Given the description of an element on the screen output the (x, y) to click on. 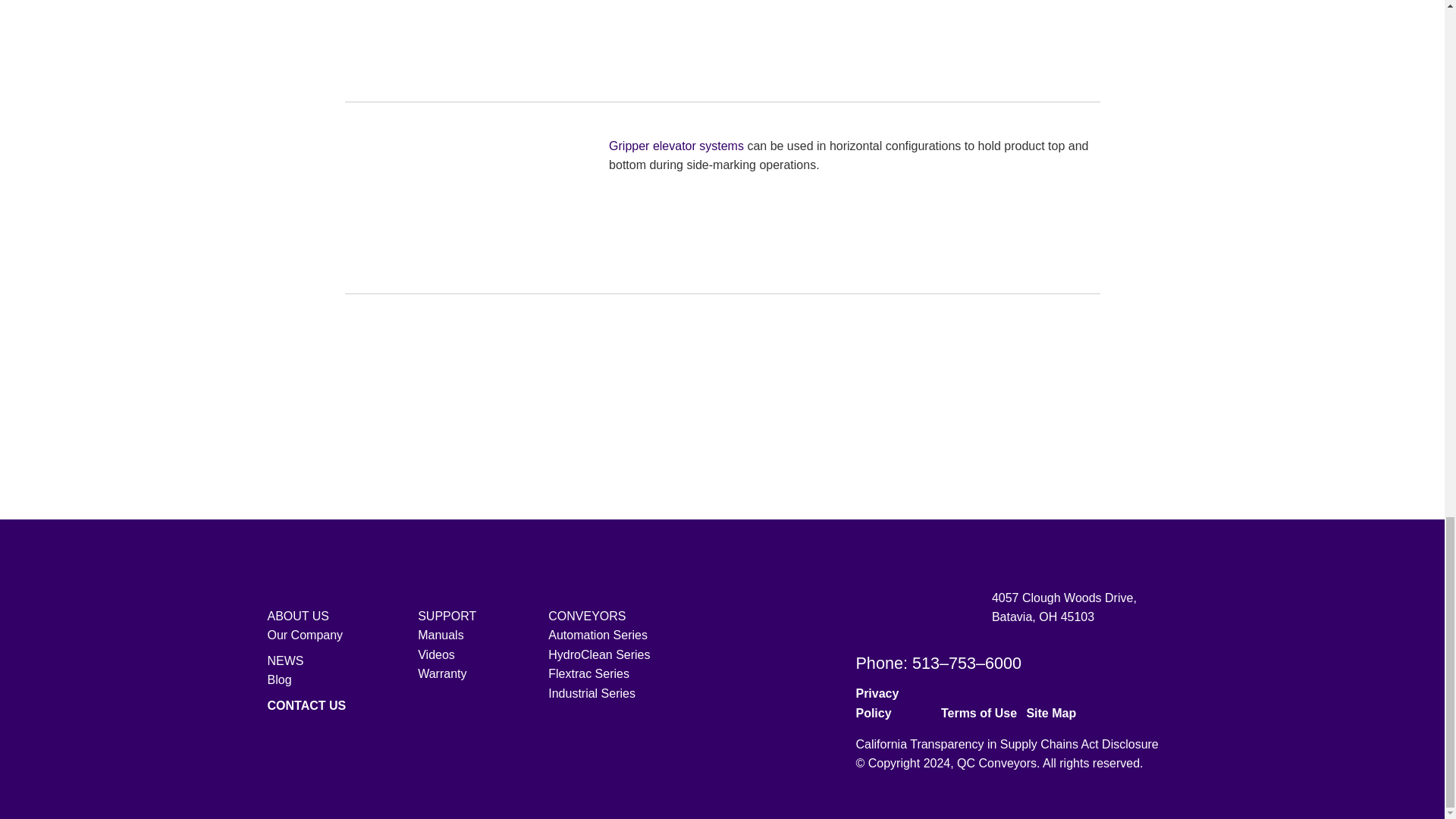
industrial-series (1063, 446)
